Given the description of an element on the screen output the (x, y) to click on. 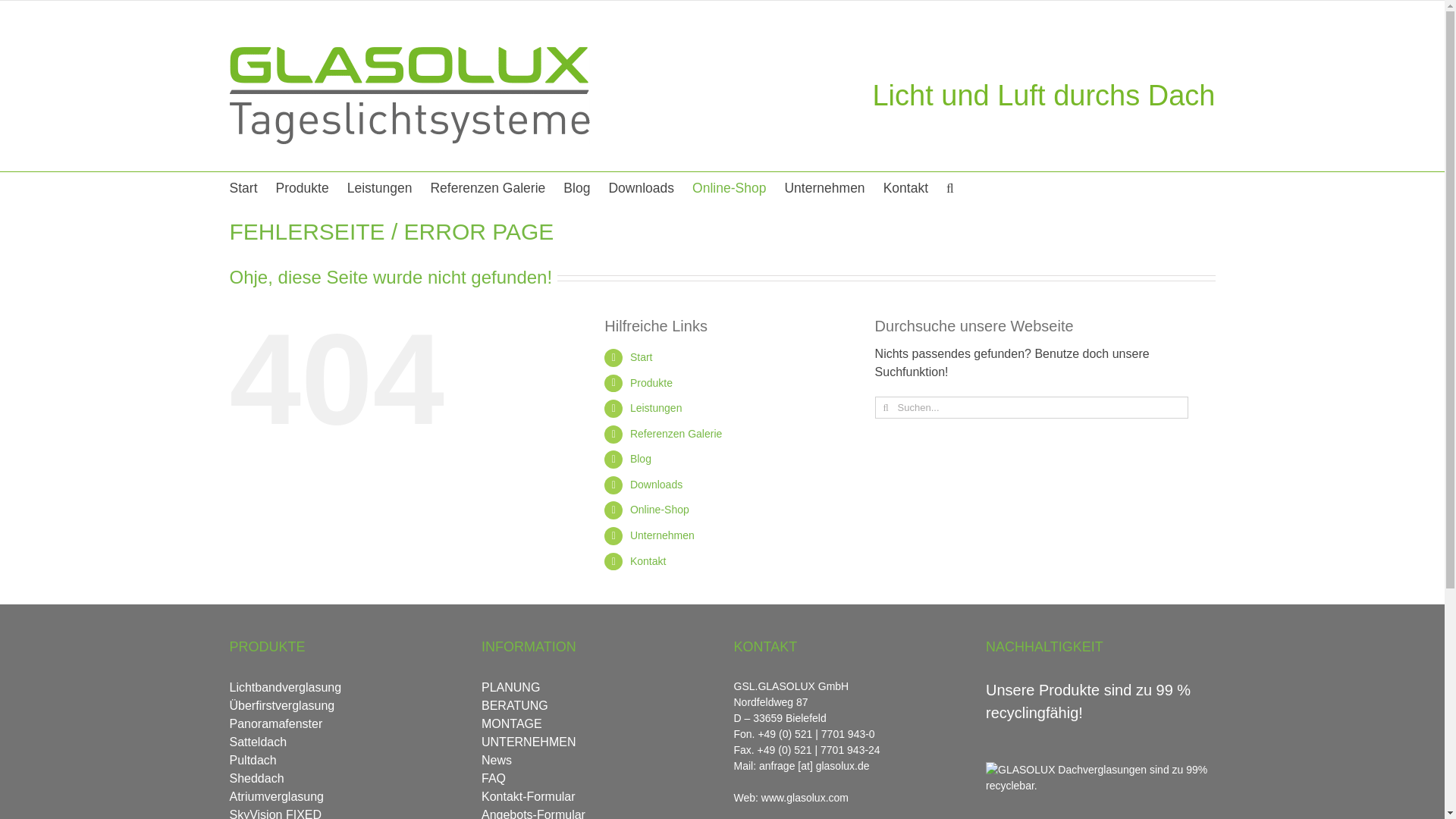
Start (242, 186)
Produkte (302, 186)
